Given the description of an element on the screen output the (x, y) to click on. 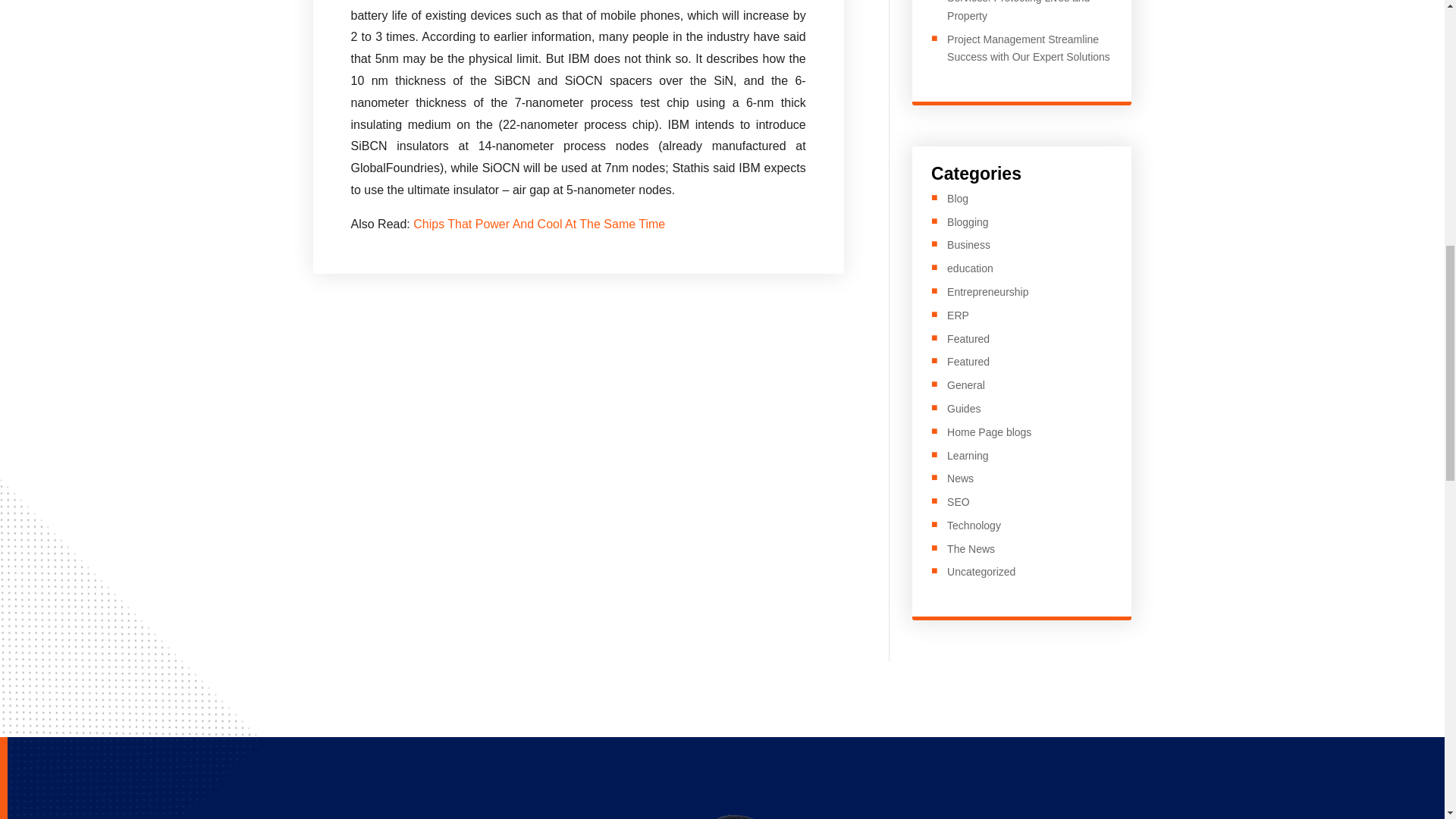
Featured (968, 361)
Blog (957, 198)
Learning (967, 454)
person-stock-2 (725, 816)
Business (968, 244)
Blogging (967, 222)
General (966, 385)
Chips That Power And Cool At The Same Time (539, 223)
Home Page blogs (988, 431)
Chips That Power And Cool At The Same Time (539, 223)
ERP (958, 315)
education (969, 268)
Featured (968, 338)
